Given the description of an element on the screen output the (x, y) to click on. 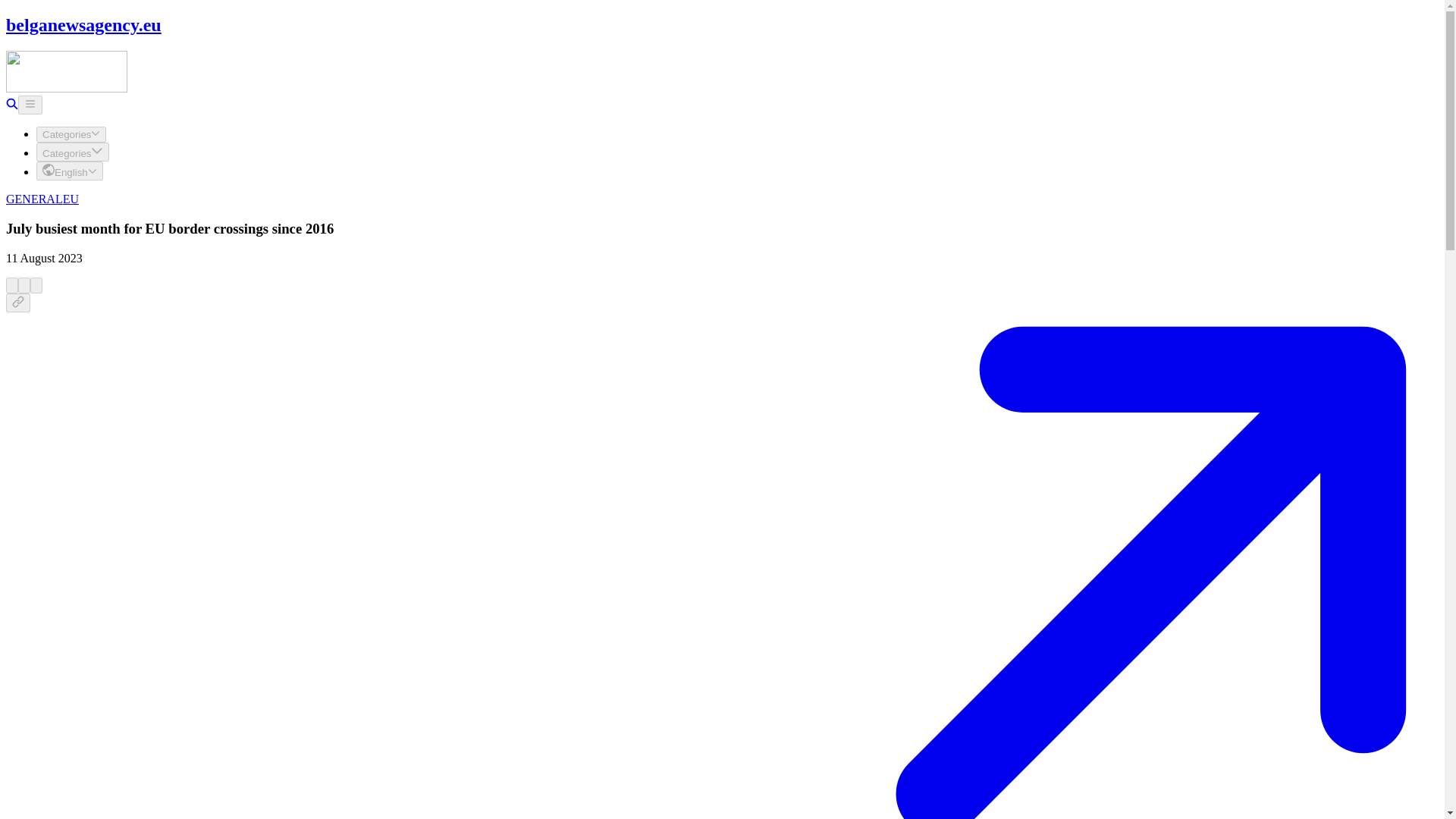
Categories (71, 134)
Copy URL (17, 302)
Search (11, 105)
Toggle navigation (29, 104)
EU (70, 198)
English (69, 170)
GENERAL (33, 198)
Categories (72, 151)
